Given the description of an element on the screen output the (x, y) to click on. 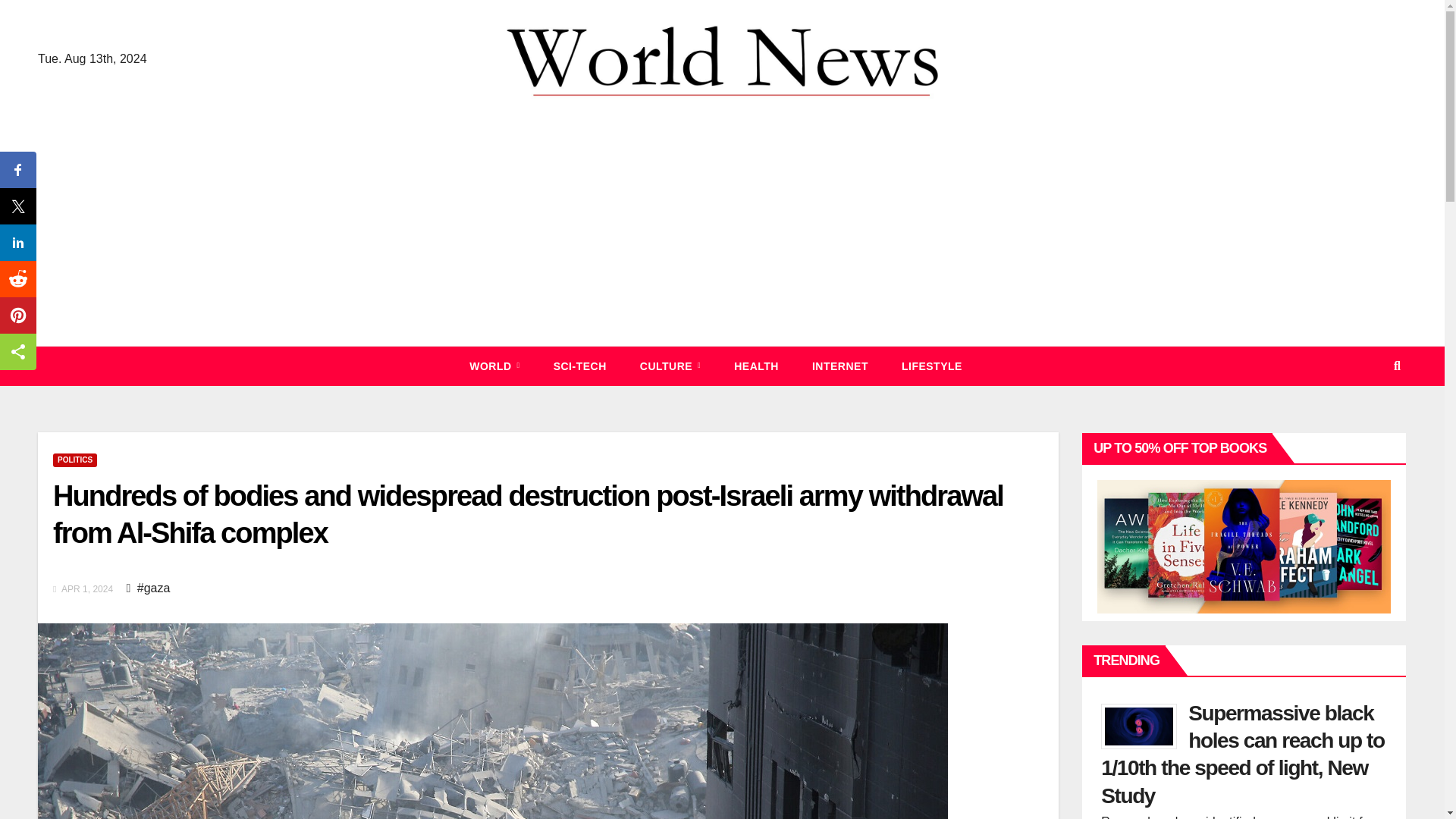
LIFESTYLE (931, 365)
Culture (670, 365)
POLITICS (74, 459)
INTERNET (839, 365)
CULTURE (670, 365)
Sci-Tech (580, 365)
SCI-TECH (580, 365)
Internet (839, 365)
